Given the description of an element on the screen output the (x, y) to click on. 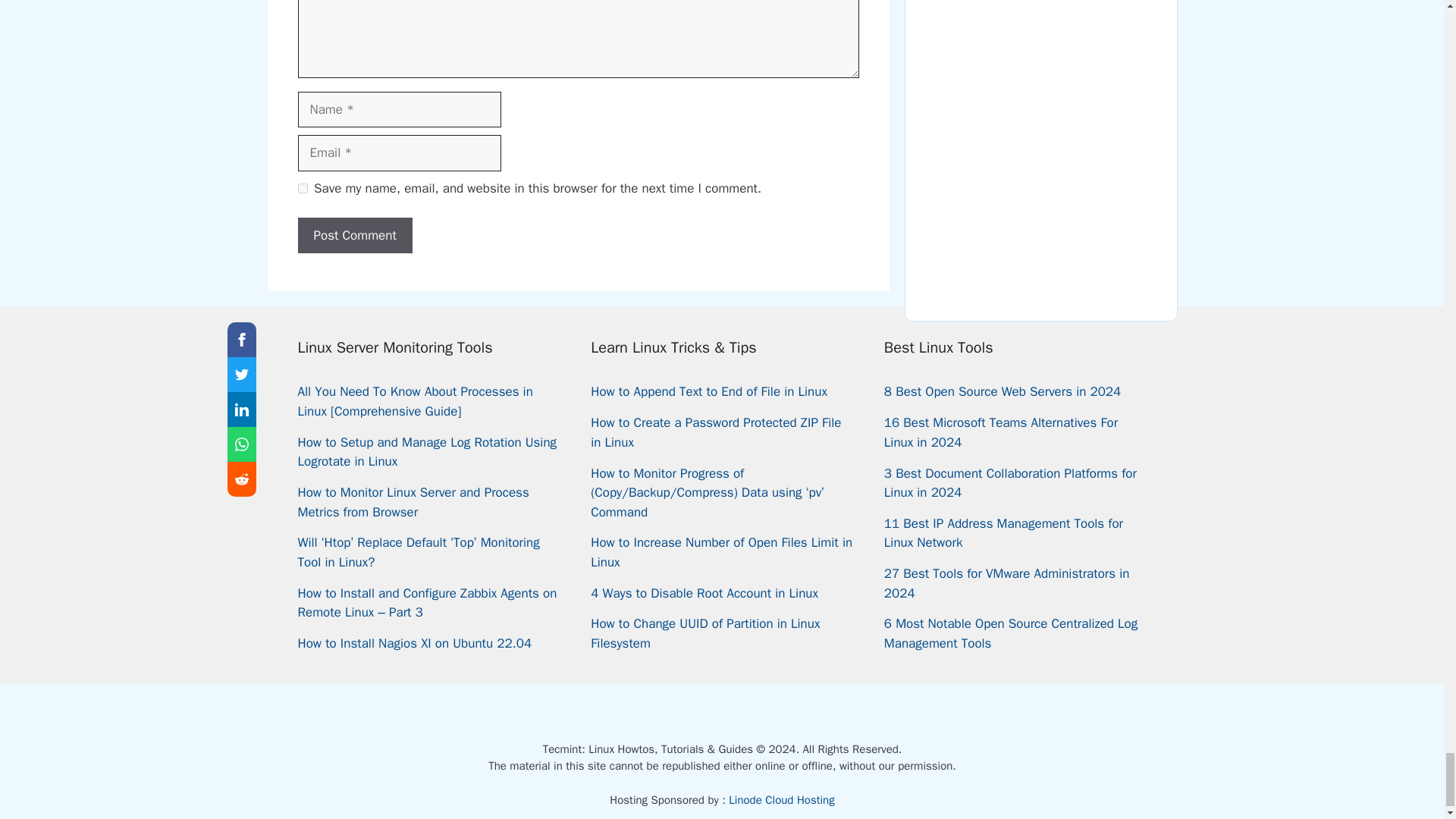
yes (302, 188)
Post Comment (354, 235)
